Given the description of an element on the screen output the (x, y) to click on. 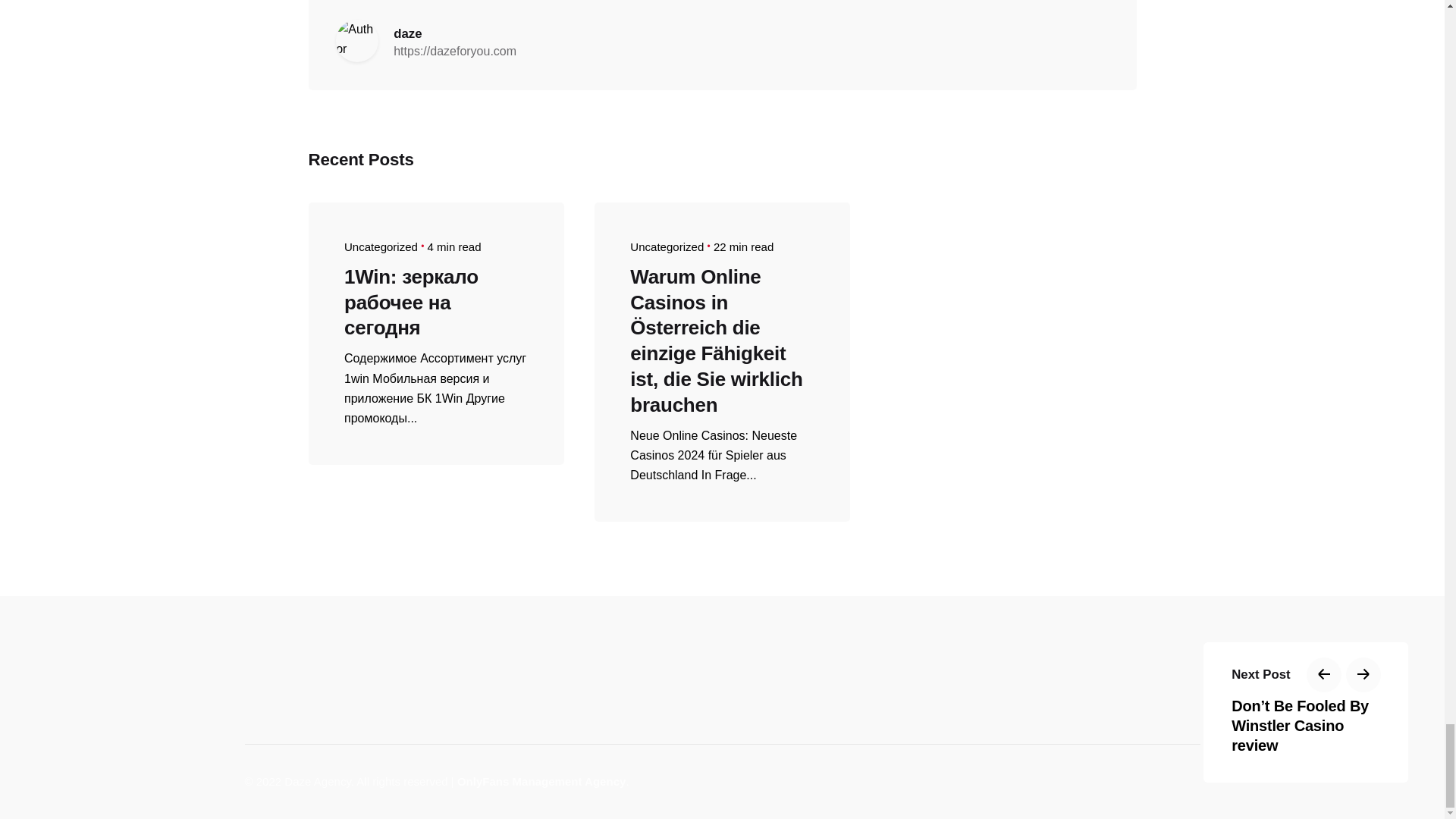
Uncategorized (380, 246)
Uncategorized (666, 246)
